Given the description of an element on the screen output the (x, y) to click on. 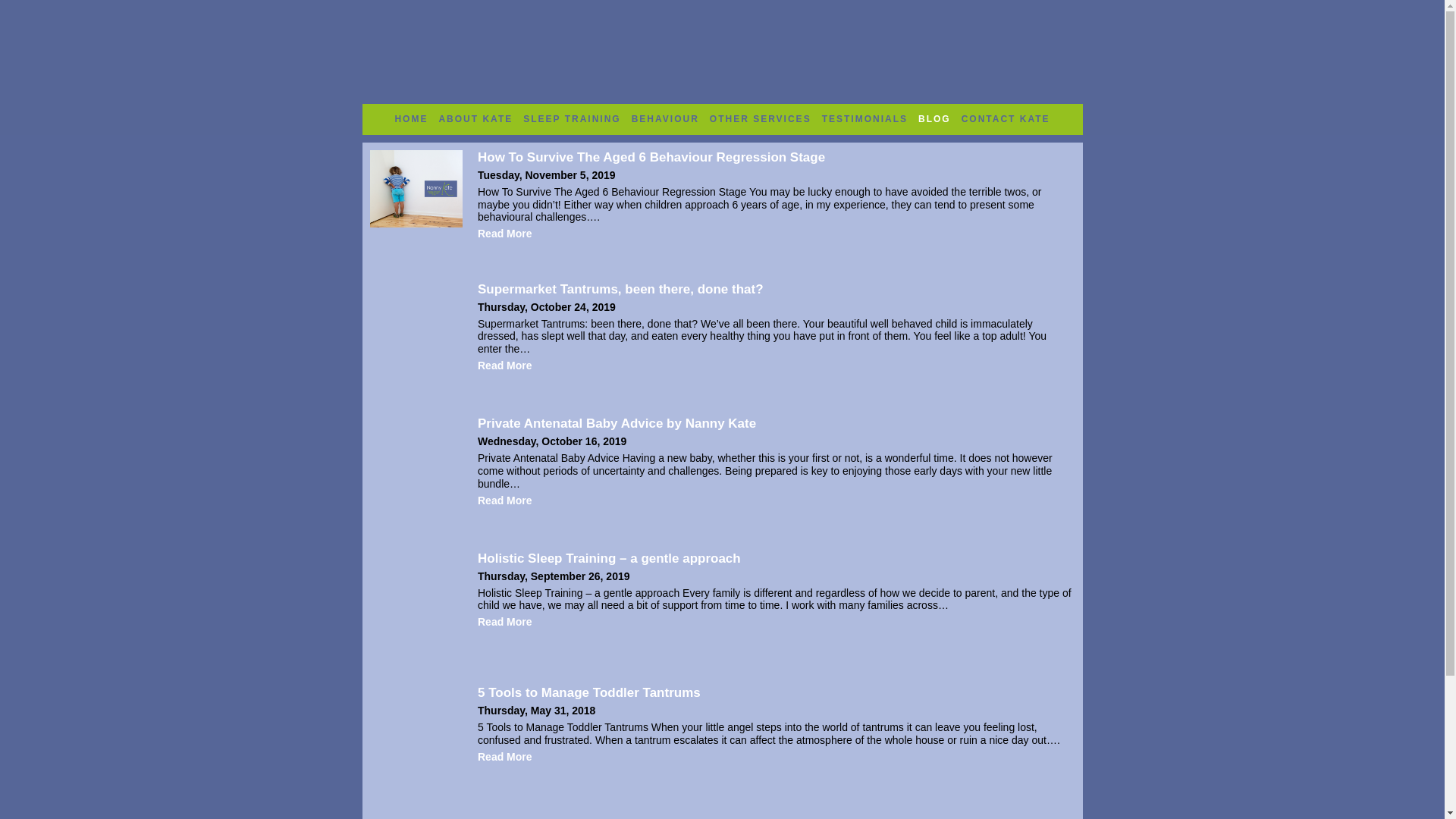
HOME (410, 118)
Read More (504, 233)
Read More (504, 365)
Supermarket Tantrums, been there, done that? (619, 288)
How To Survive The Aged 6 Behaviour Regression Stage (651, 156)
ABOUT KATE (475, 118)
TESTIMONIALS (864, 118)
Private Antenatal Baby Advice by Nanny Kate (616, 423)
SLEEP TRAINING (572, 118)
BEHAVIOUR (665, 118)
